Given the description of an element on the screen output the (x, y) to click on. 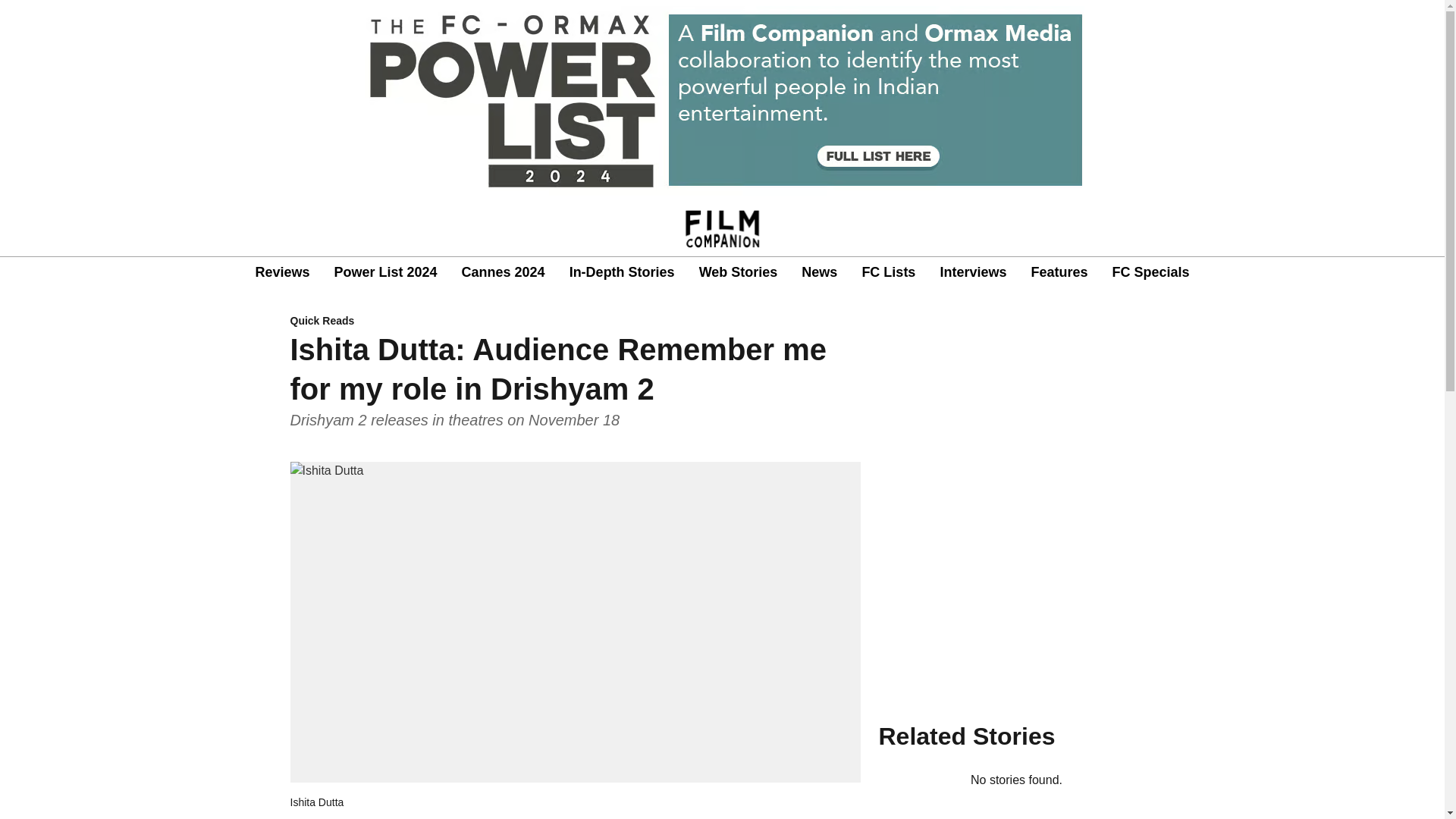
In-Depth Stories (622, 272)
Reviews (281, 272)
Power List 2024 (384, 272)
Features (1058, 272)
Cannes 2024 (502, 272)
Interviews (972, 272)
News (819, 272)
Web Stories (737, 272)
FC Lists (888, 272)
